Given the description of an element on the screen output the (x, y) to click on. 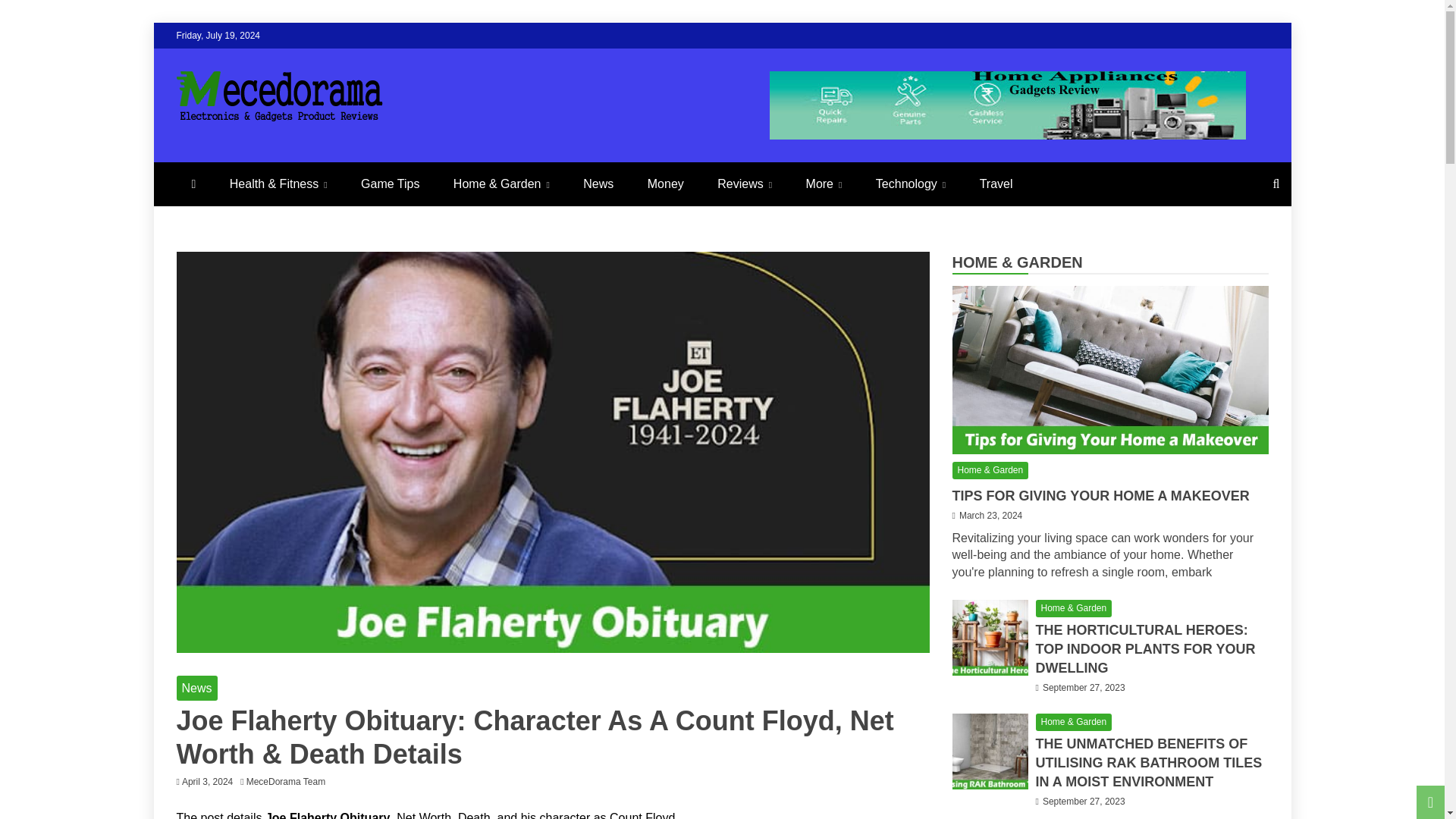
More (823, 183)
Money (664, 183)
Game Tips (389, 183)
Reviews (744, 183)
Technology (910, 183)
News (597, 183)
MeceDorama Team (289, 781)
April 3, 2024 (207, 781)
Travel (995, 183)
News (196, 688)
